Given the description of an element on the screen output the (x, y) to click on. 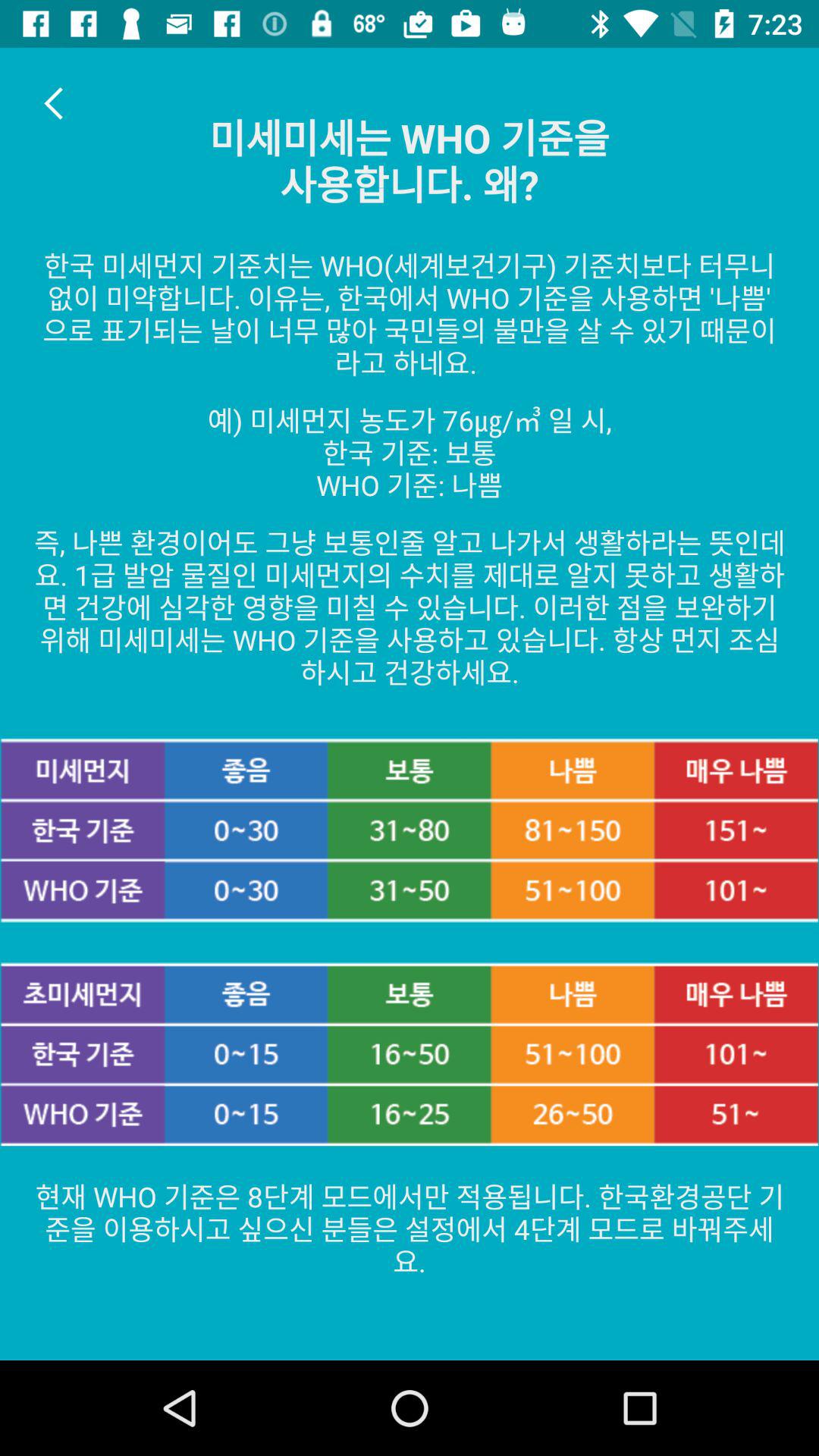
select item at the top left corner (55, 103)
